Given the description of an element on the screen output the (x, y) to click on. 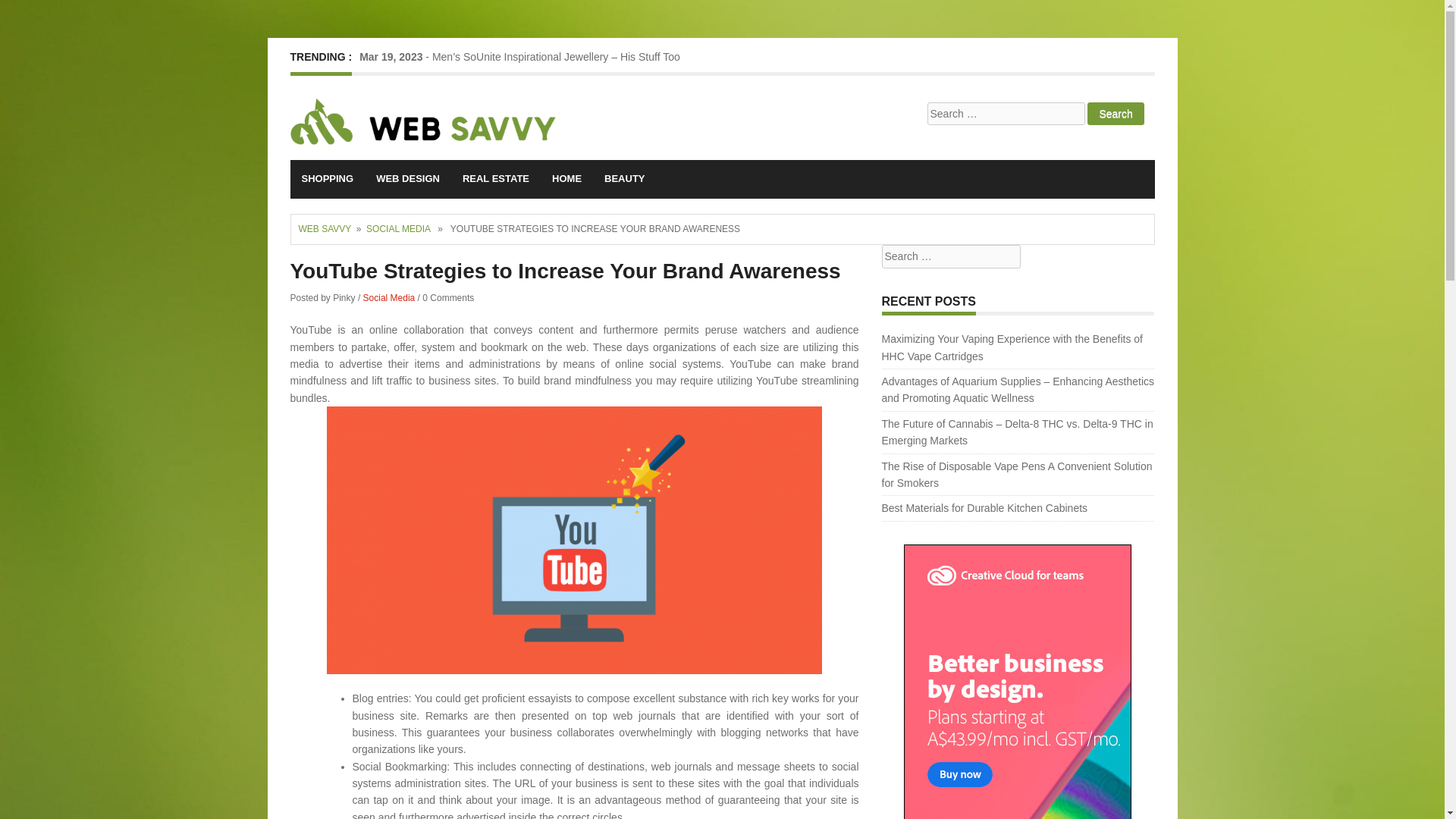
Social Media (388, 297)
BEAUTY (624, 179)
Best Materials for Durable Kitchen Cabinets (983, 508)
WEB DESIGN (408, 179)
HOME (566, 179)
SOCIAL MEDIA (397, 228)
Search (28, 11)
Search (1114, 113)
REAL ESTATE (495, 179)
Search (1114, 113)
